Given the description of an element on the screen output the (x, y) to click on. 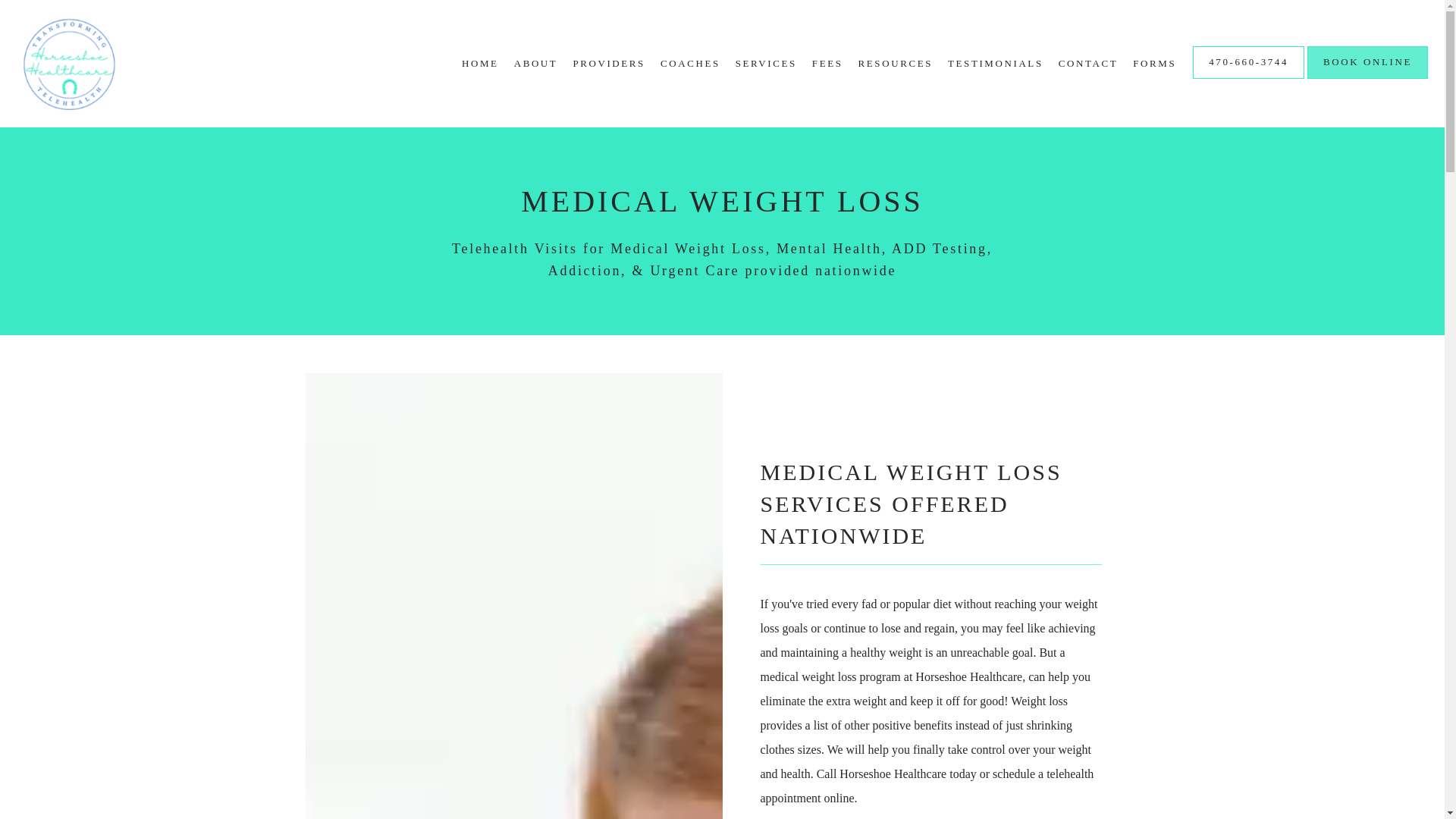
CONTACT (1088, 62)
COACHES (690, 62)
470-660-3744 (1248, 77)
BOOK ONLINE (1367, 77)
SERVICES (765, 62)
FEES (827, 62)
HOME (480, 62)
FORMS (1154, 62)
PROVIDERS (608, 62)
RESOURCES (896, 62)
TESTIMONIALS (995, 62)
ABOUT (535, 62)
